Given the description of an element on the screen output the (x, y) to click on. 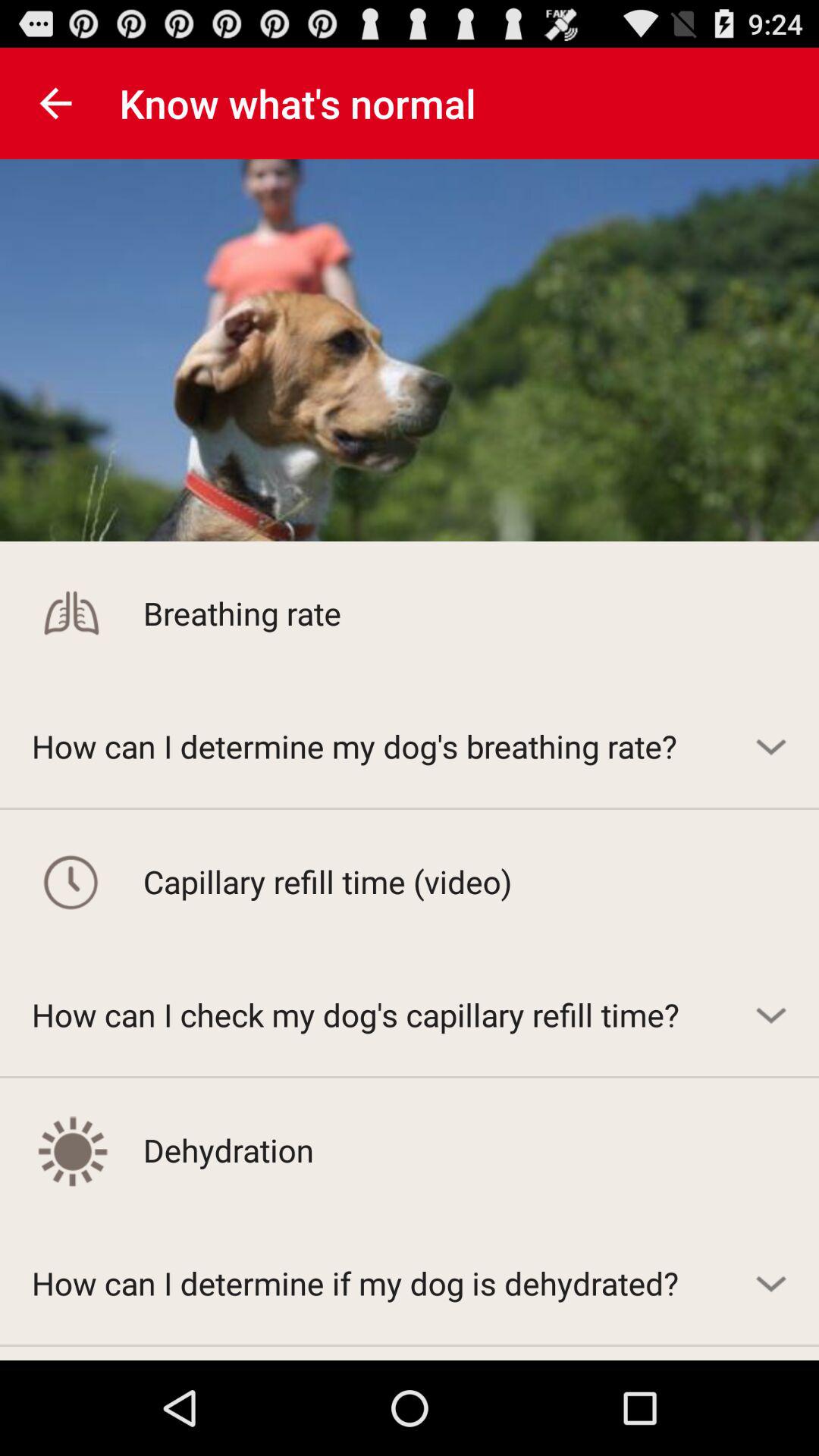
choose the icon at the top left corner (55, 103)
